Given the description of an element on the screen output the (x, y) to click on. 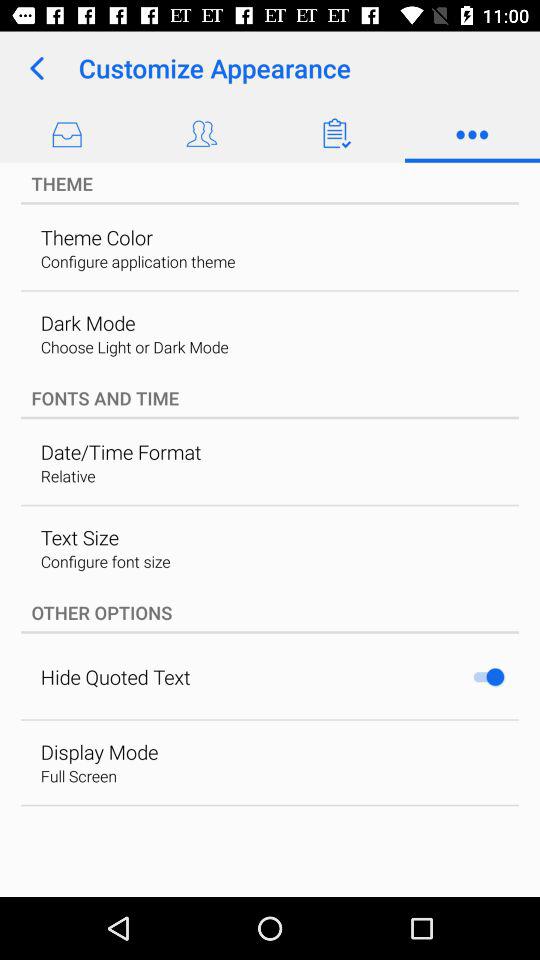
click the icon next to the customize appearance app (36, 68)
